Given the description of an element on the screen output the (x, y) to click on. 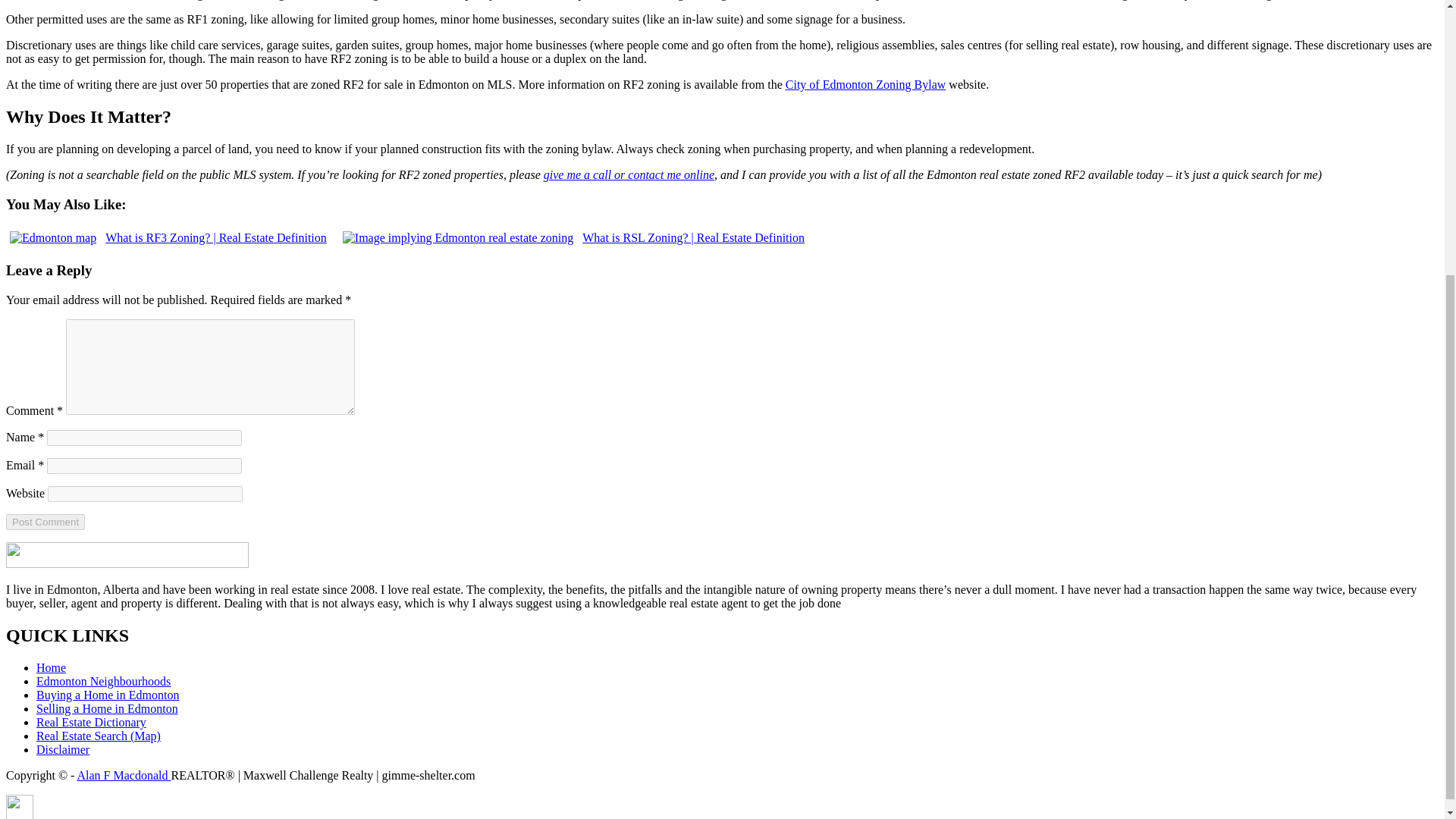
City of Edmonton Zoning Bylaw (866, 83)
Post Comment (44, 521)
give me a call or contact me online (628, 174)
Edmonton Neighbourhoods (103, 680)
Alan F Macdonald (124, 775)
Disclaimer (62, 748)
Real Estate Dictionary (91, 721)
Selling a Home in Edmonton (106, 707)
Post Comment (44, 521)
Home (50, 667)
Buying a Home in Edmonton (107, 694)
